Given the description of an element on the screen output the (x, y) to click on. 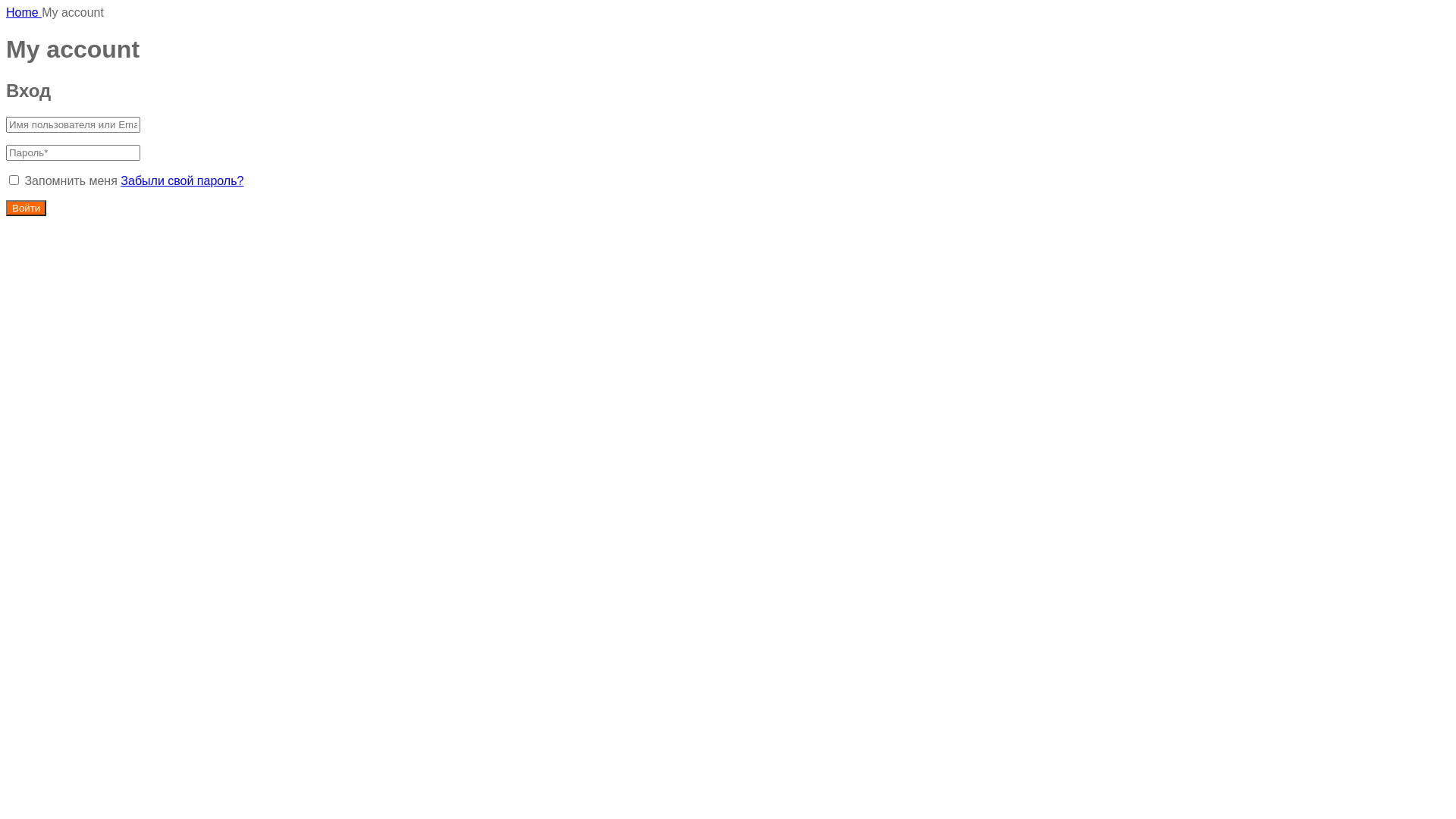
Home Element type: text (23, 12)
